Given the description of an element on the screen output the (x, y) to click on. 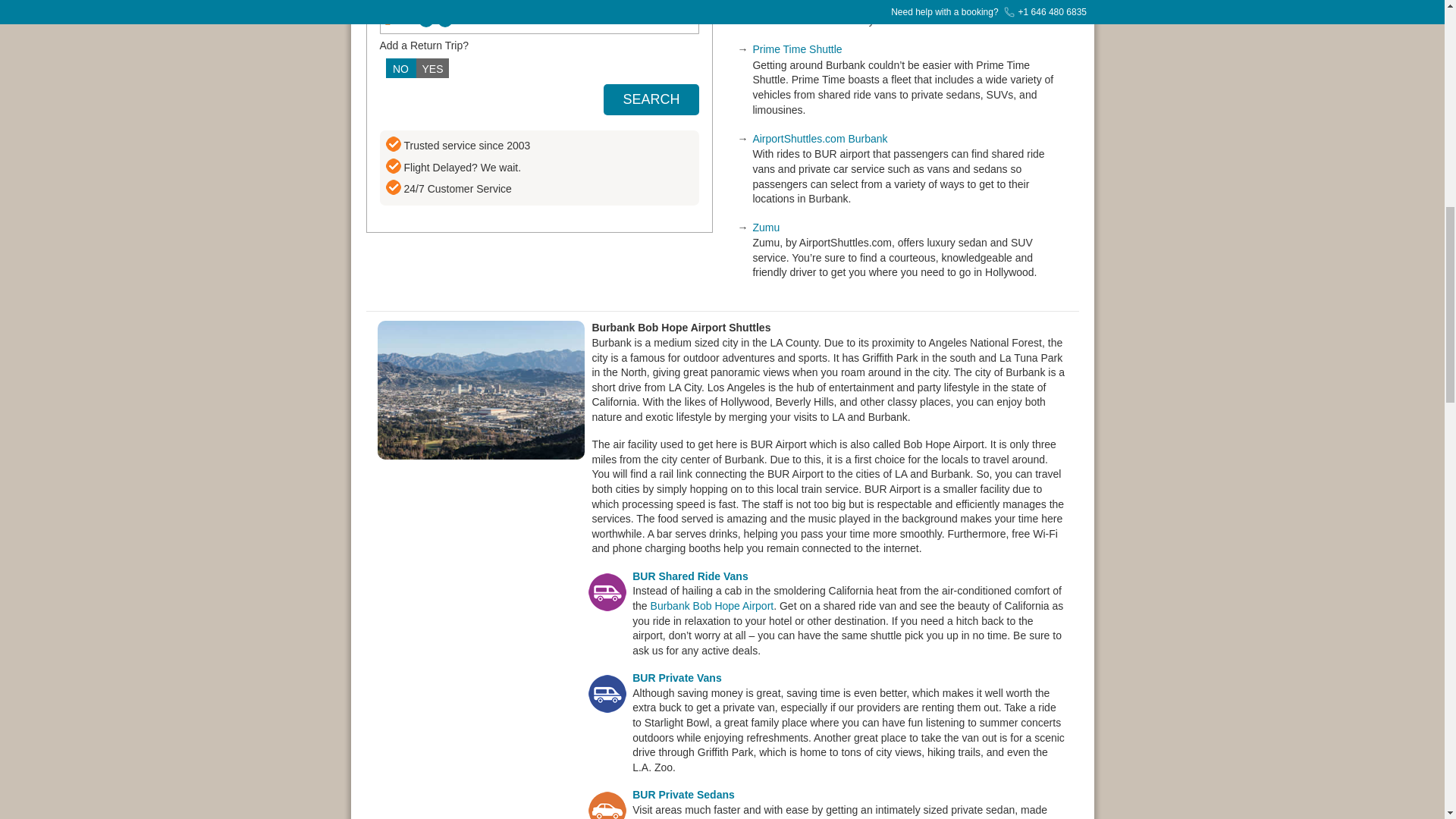
1 (539, 18)
Burbank Bob Hope Airport (712, 605)
AirportShuttles.com Burbank (819, 138)
SEARCH (651, 99)
BUR Shared Ride Vans (689, 576)
Prime Time Shuttle (796, 49)
